Given the description of an element on the screen output the (x, y) to click on. 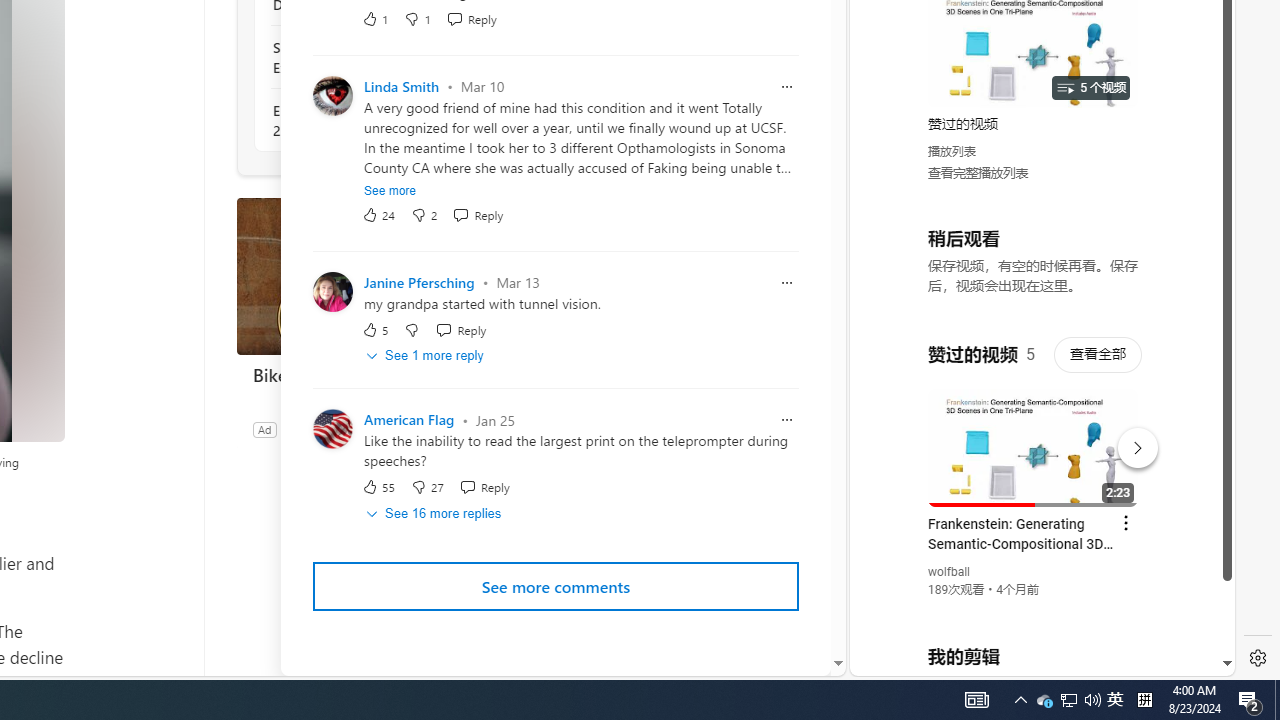
5 Like (375, 329)
#you (1034, 439)
YouTube (1034, 432)
See 16 more replies (434, 514)
Bike Gurus (386, 374)
wolfball (949, 572)
American Flag (408, 420)
55 Like (378, 487)
